Given the description of an element on the screen output the (x, y) to click on. 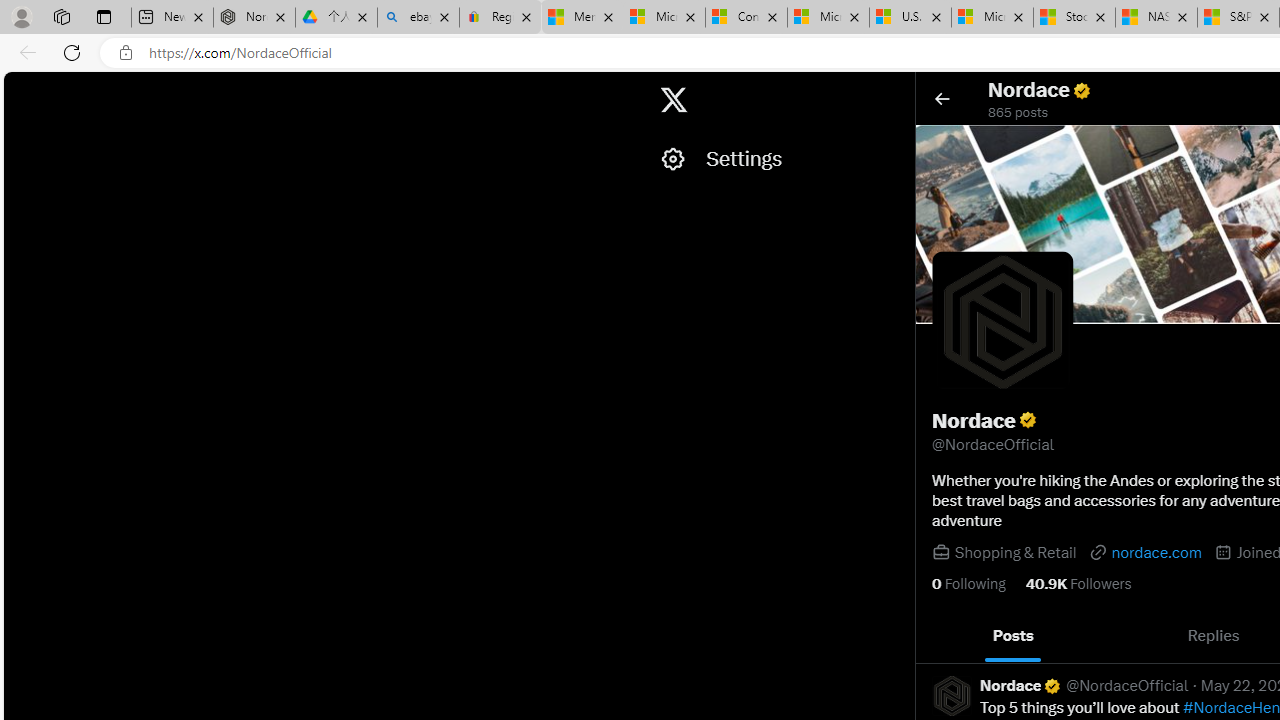
Square profile picture (951, 695)
Register: Create a personal eBay account (500, 17)
Previous (938, 636)
Verified account (1052, 686)
Skip to trending (21, 90)
Square profile picture and Opens profile photo (1002, 321)
Consumer Health Data Privacy Policy (587, 17)
